Given the description of an element on the screen output the (x, y) to click on. 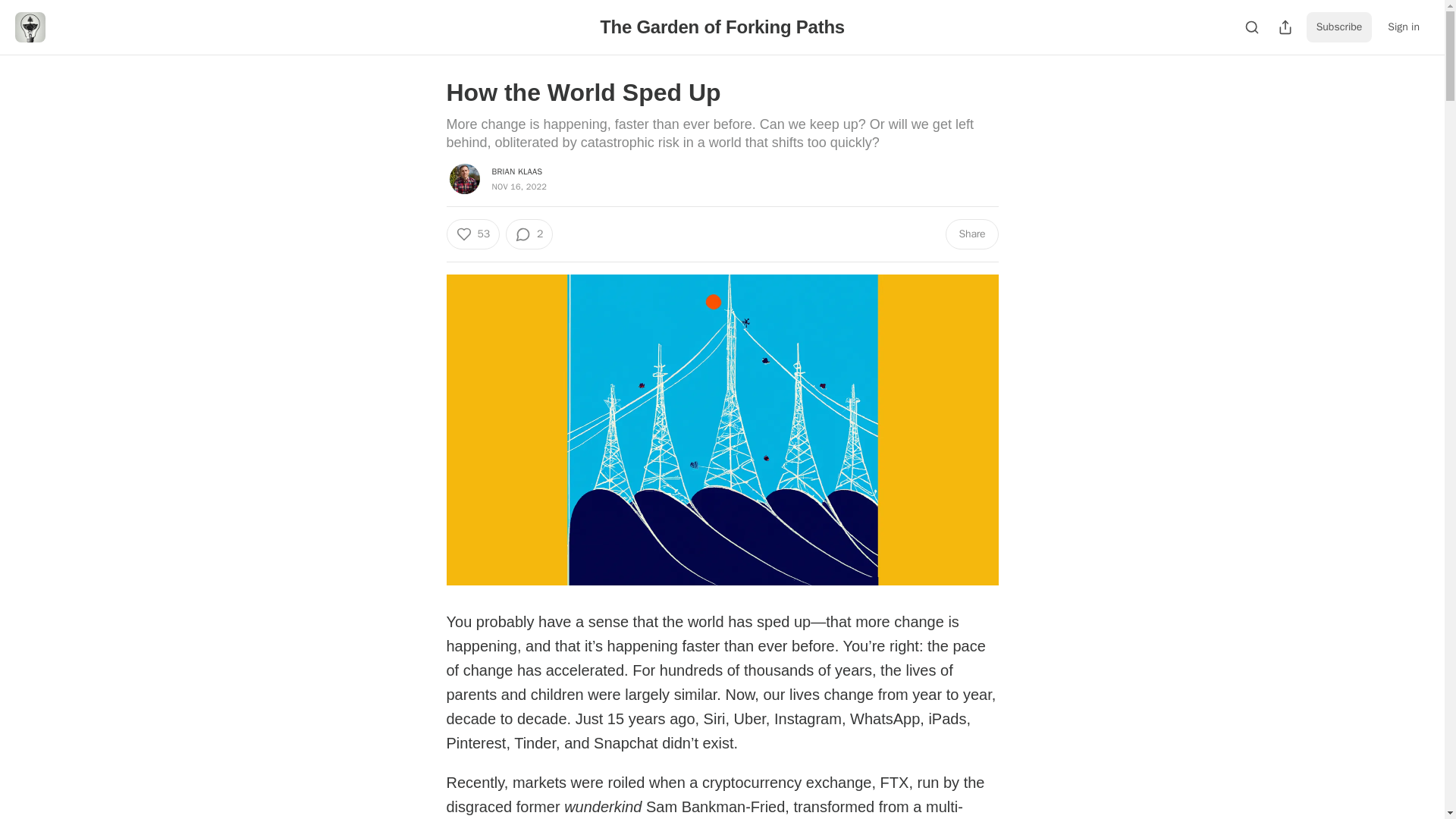
Sign in (1403, 27)
2 (529, 234)
Subscribe (1339, 27)
BRIAN KLAAS (516, 171)
53 (472, 234)
The Garden of Forking Paths (721, 26)
Share (970, 234)
